Given the description of an element on the screen output the (x, y) to click on. 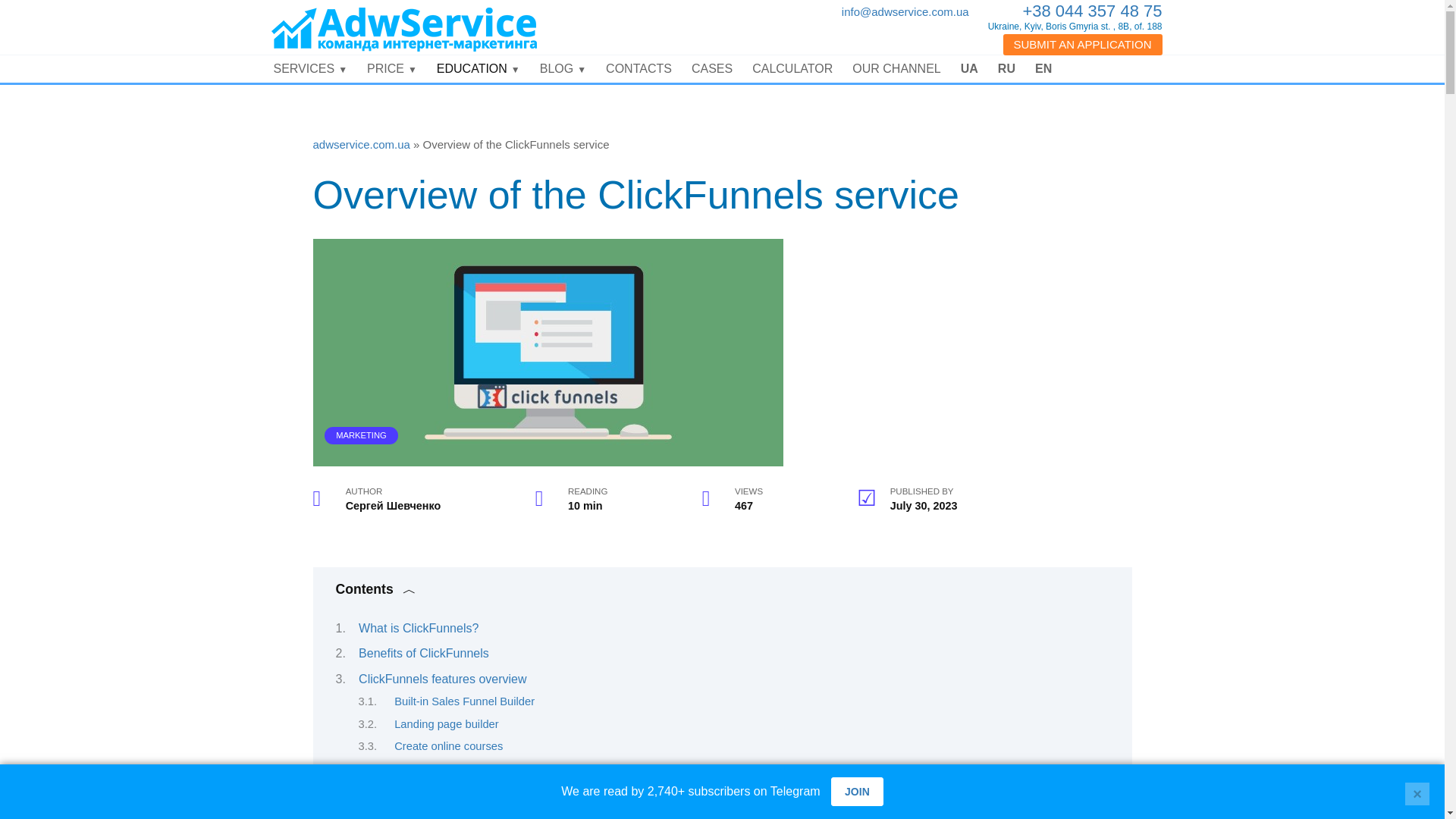
SERVICES (310, 68)
SUBMIT AN APPLICATION (1082, 44)
